Given the description of an element on the screen output the (x, y) to click on. 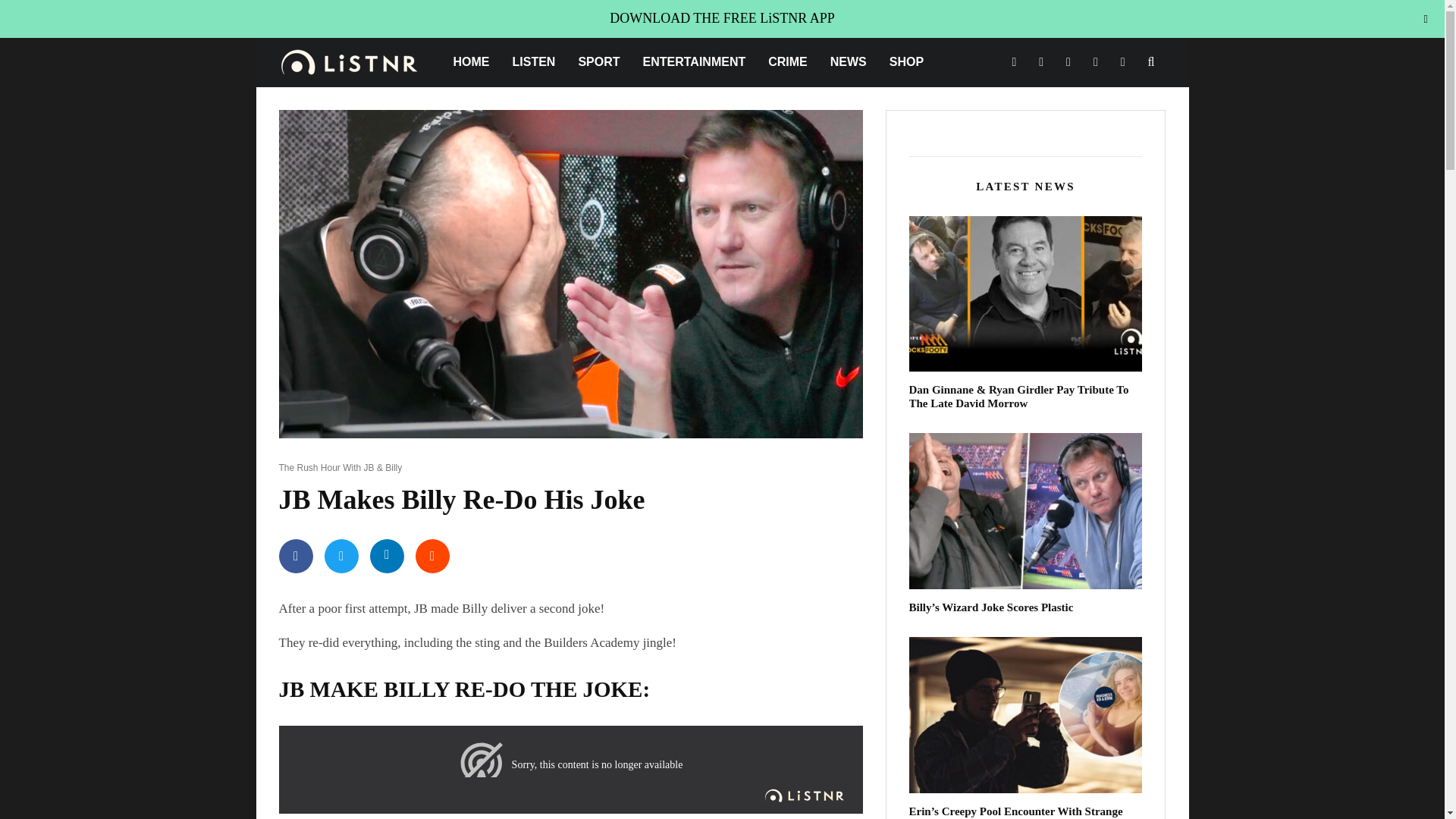
DOWNLOAD THE FREE LiSTNR APP (722, 17)
ENTERTAINMENT (694, 61)
CRIME (787, 61)
HOME (470, 61)
SPORT (598, 61)
NEWS (847, 61)
DOWNLOAD THE FREE LiSTNR APP (722, 17)
LISTEN (533, 61)
